Given the description of an element on the screen output the (x, y) to click on. 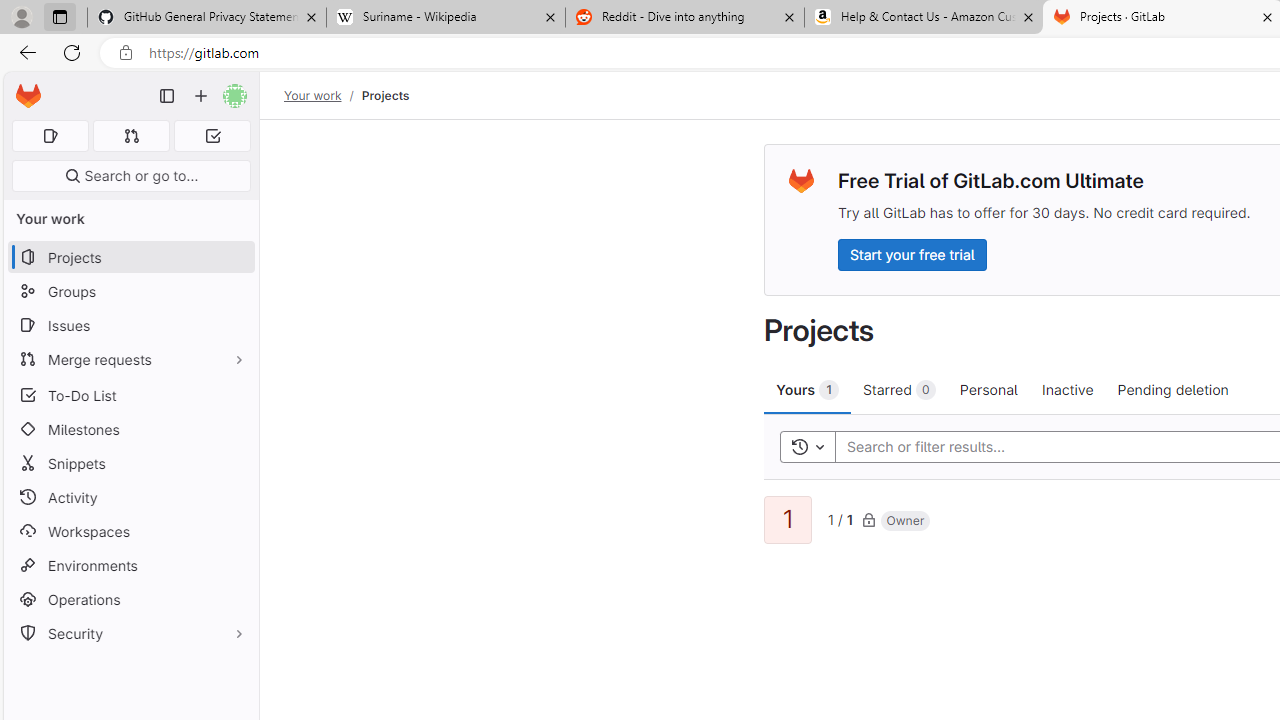
Your work (312, 95)
Primary navigation sidebar (167, 96)
Yours 1 (808, 389)
Create new... (201, 96)
Help & Contact Us - Amazon Customer Service (924, 17)
1 (787, 519)
Groups (130, 291)
Your work/ (323, 95)
Groups (130, 291)
1 / 1 (840, 518)
Activity (130, 497)
